Given the description of an element on the screen output the (x, y) to click on. 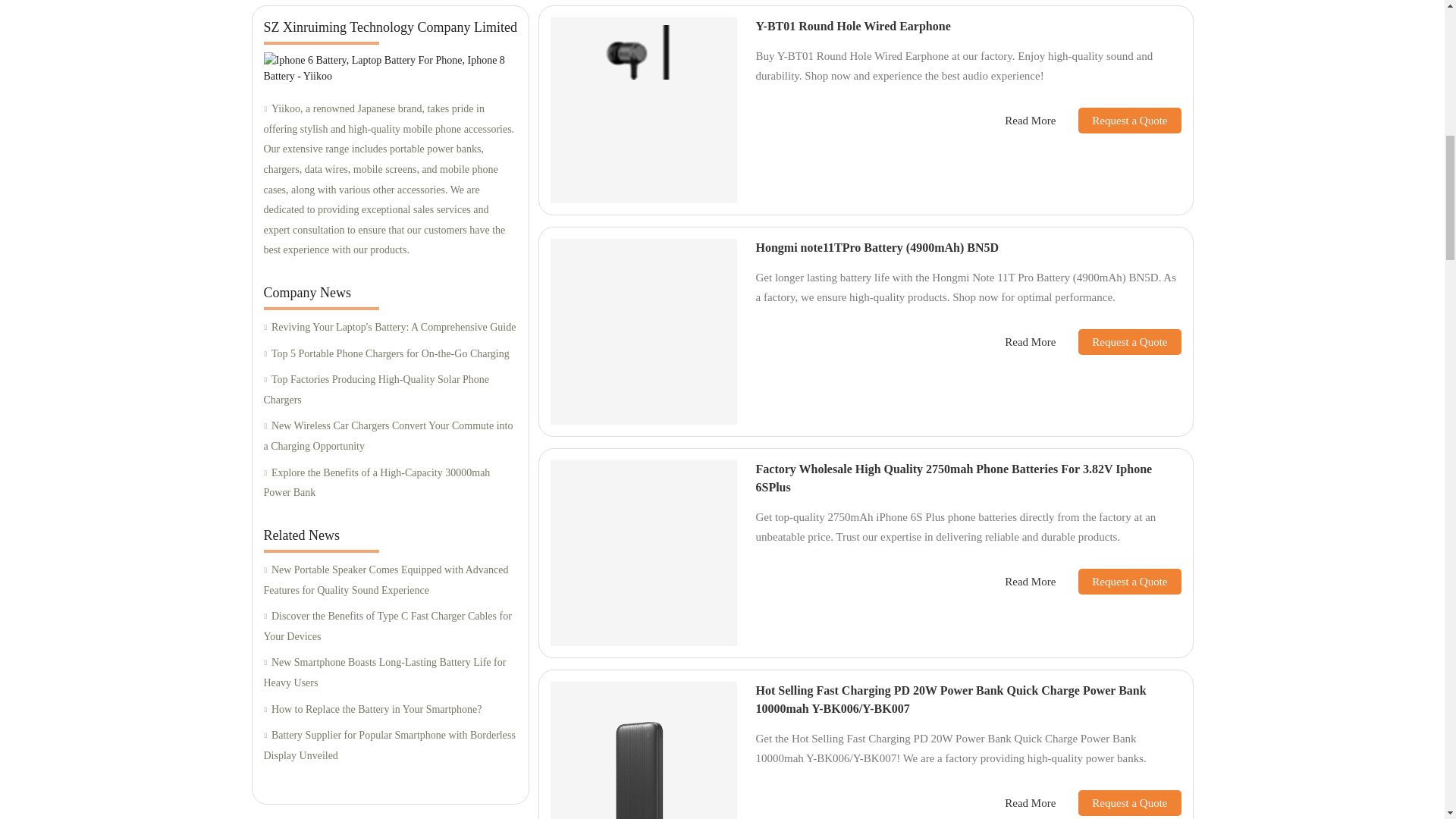
Explore the Benefits of a High-Capacity 30000mah Power Bank (389, 483)
How to Replace the Battery in Your Smartphone? (389, 710)
Reviving Your Laptop's Battery: A Comprehensive Guide (389, 327)
Read More (1029, 120)
Y-BT01 Round Hole Wired Earphone (852, 25)
Top Factories Producing High-Quality Solar Phone Chargers (389, 390)
Top 5 Portable Phone Chargers for On-the-Go Charging (389, 353)
Request a Quote (1117, 120)
